Given the description of an element on the screen output the (x, y) to click on. 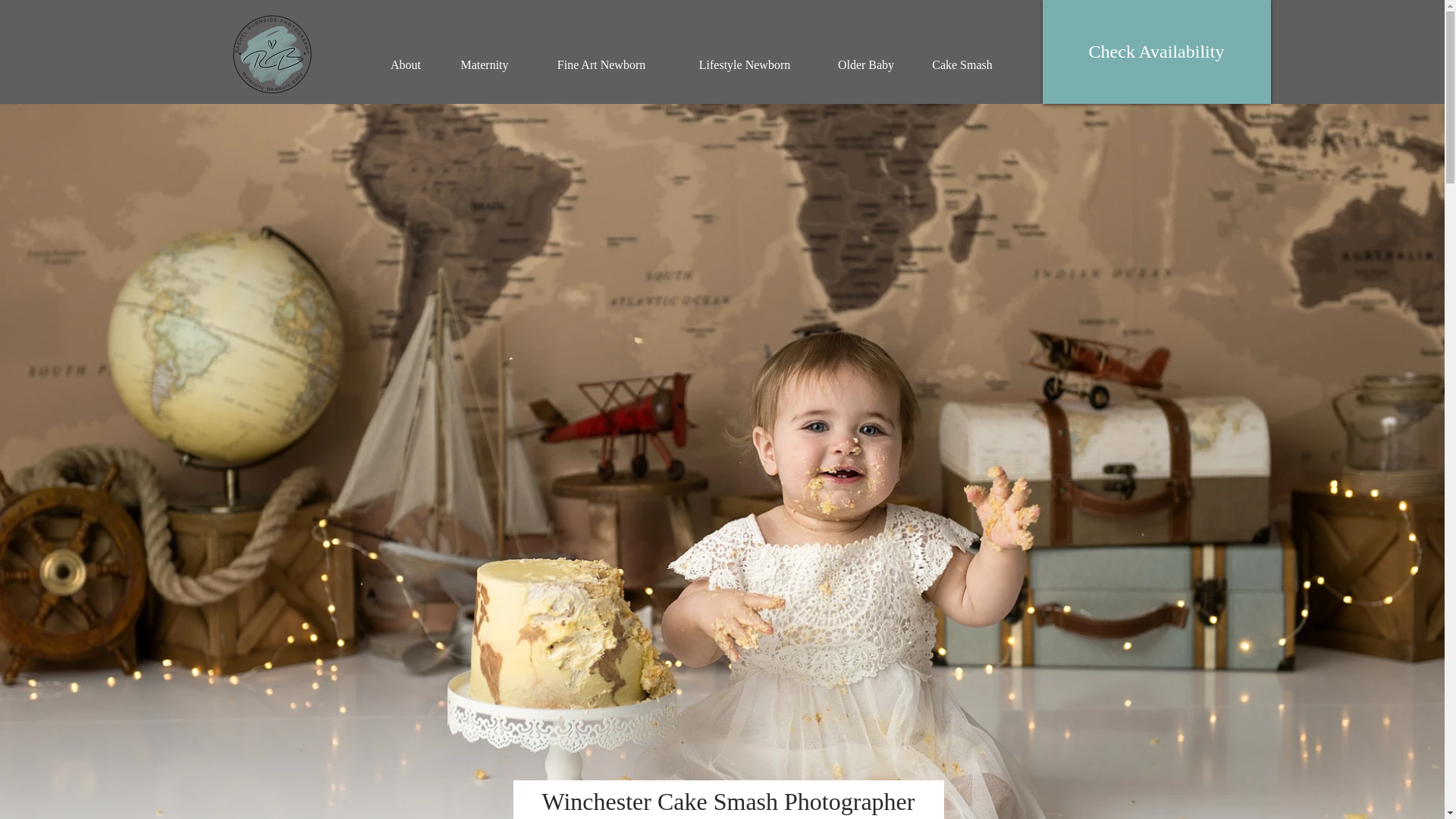
About (405, 64)
Maternity (484, 64)
Older Baby (865, 64)
Lifestyle Newborn (744, 64)
Check Availability (1155, 52)
Fine Art Newborn (601, 64)
Cake Smash (962, 64)
